Given the description of an element on the screen output the (x, y) to click on. 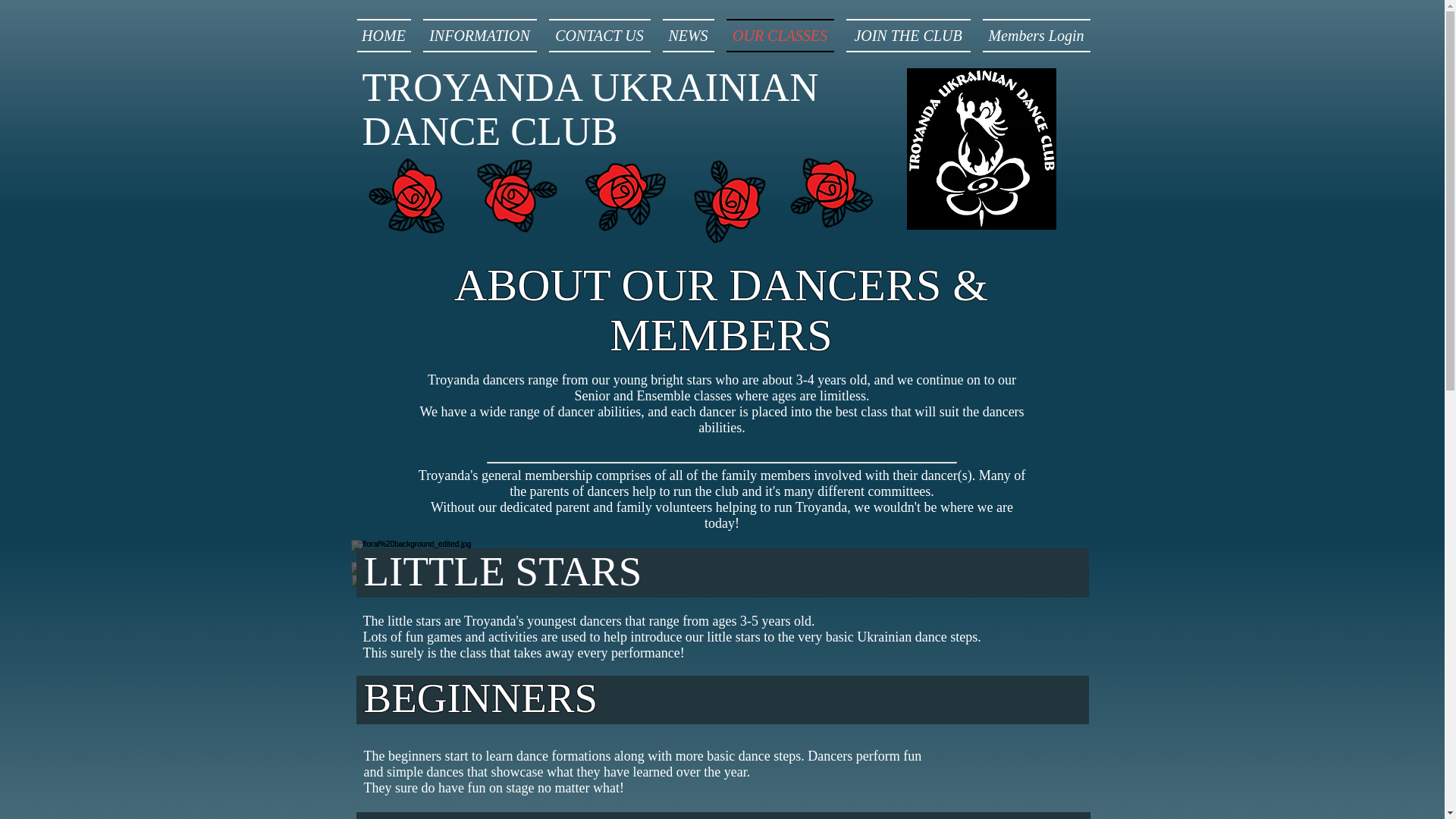
CONTACT US (599, 35)
NEWS (688, 35)
OUR CLASSES (780, 35)
INFORMATION (479, 35)
HOME (386, 35)
Members Login (1033, 35)
JOIN THE CLUB (908, 35)
